Given the description of an element on the screen output the (x, y) to click on. 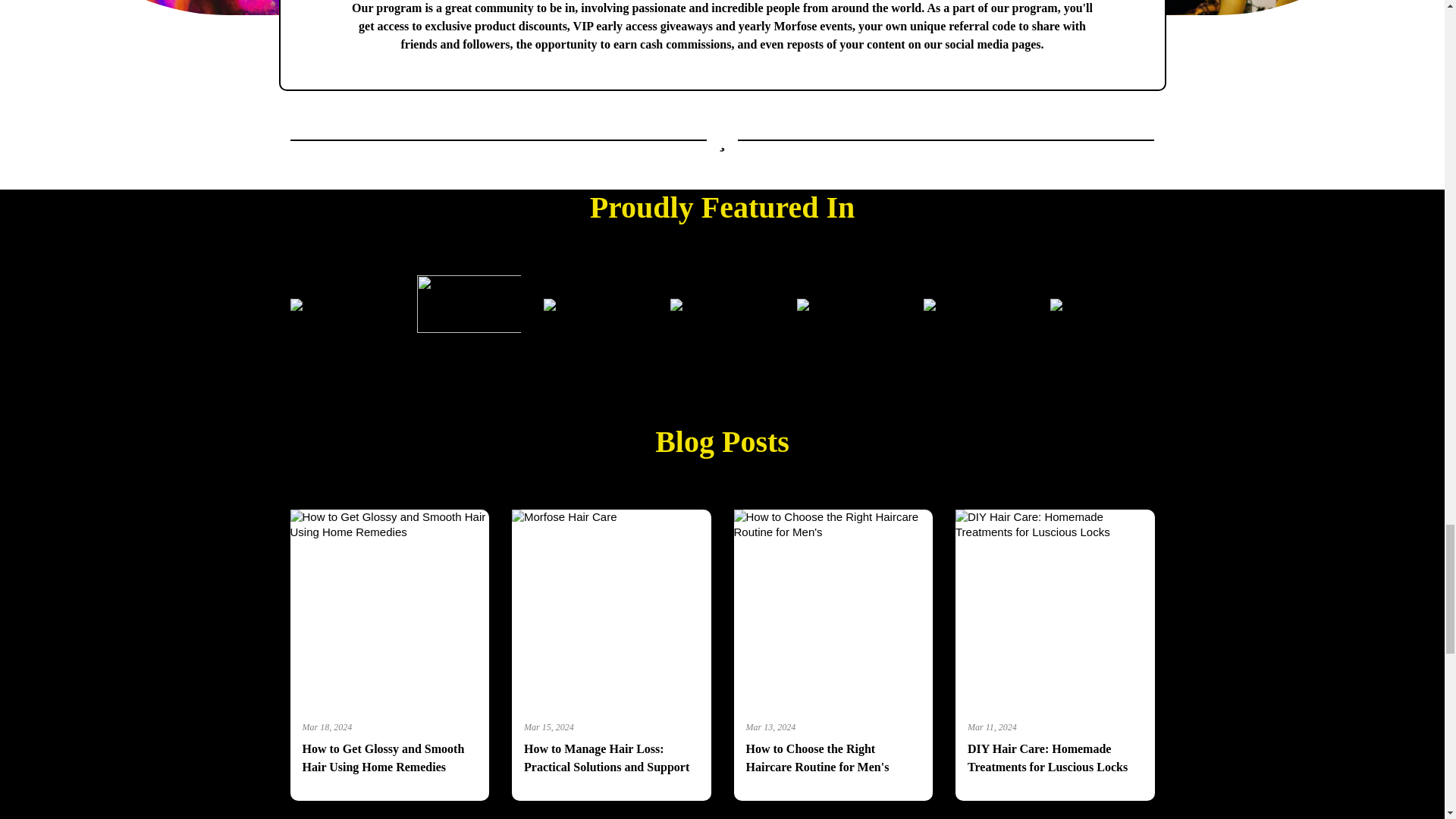
How to Manage Hair Loss: Practical Solutions and Support (611, 758)
How to Choose the Right Haircare Routine for Men's (833, 758)
How to Get Glossy and Smooth Hair Using Home Remedies (389, 758)
DIY Hair Care: Homemade Treatments for Luscious Locks (1055, 758)
